Given the description of an element on the screen output the (x, y) to click on. 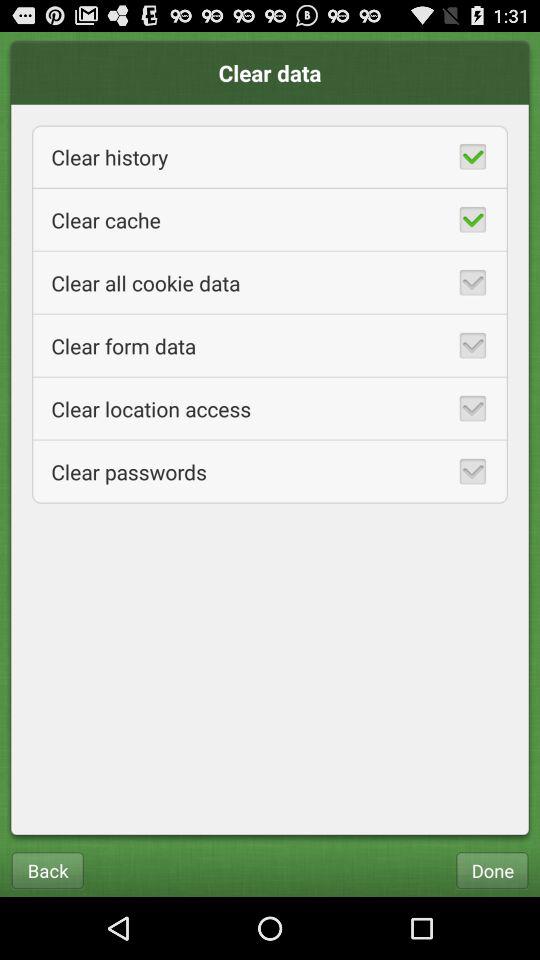
scroll to clear passwords item (269, 471)
